Given the description of an element on the screen output the (x, y) to click on. 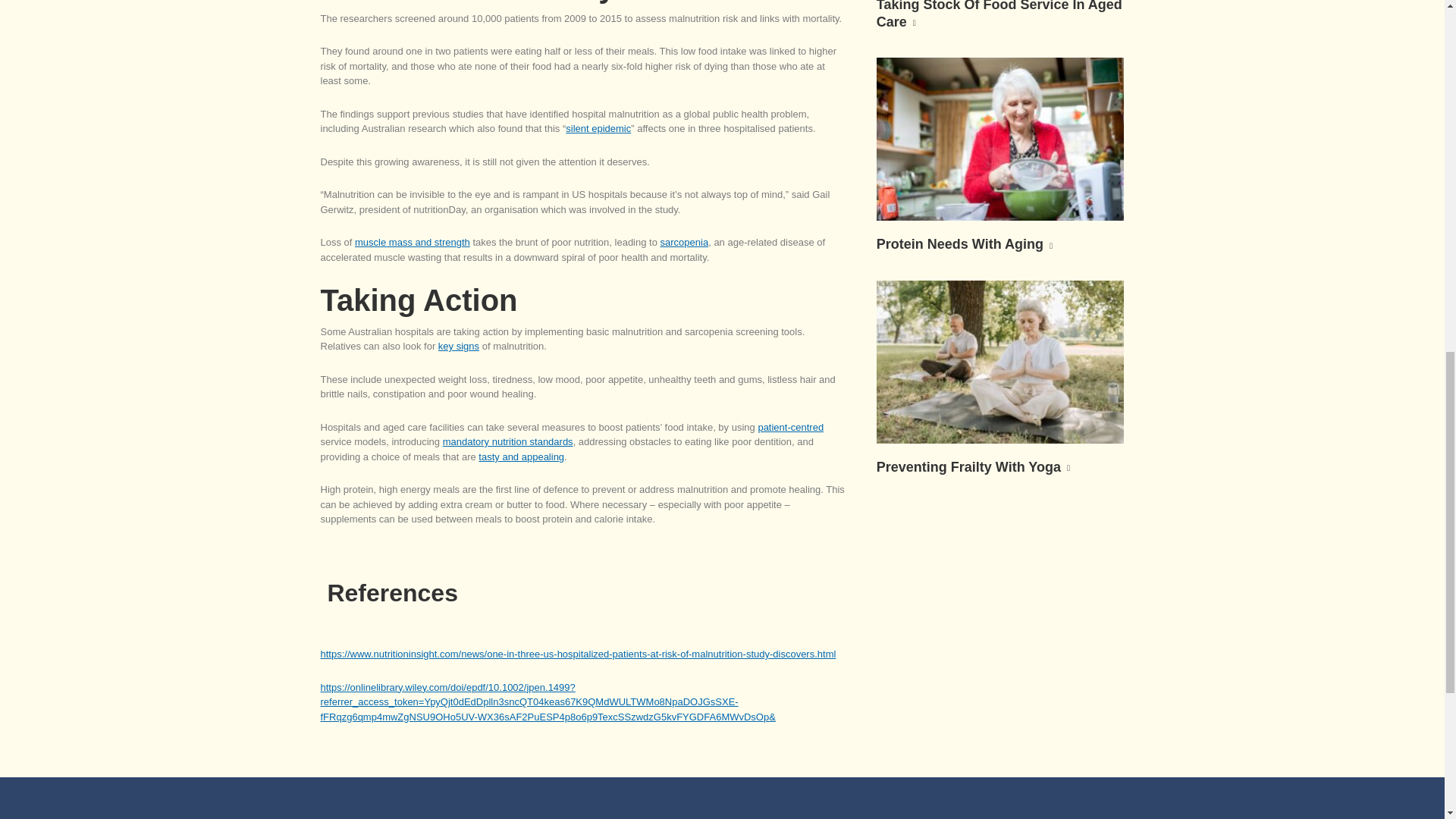
muscle mass and strength (412, 242)
patient-centred (790, 427)
tasty and appealing (521, 456)
silent epidemic (598, 128)
sarcopenia (685, 242)
key signs (458, 346)
mandatory nutrition standards (507, 441)
